Given the description of an element on the screen output the (x, y) to click on. 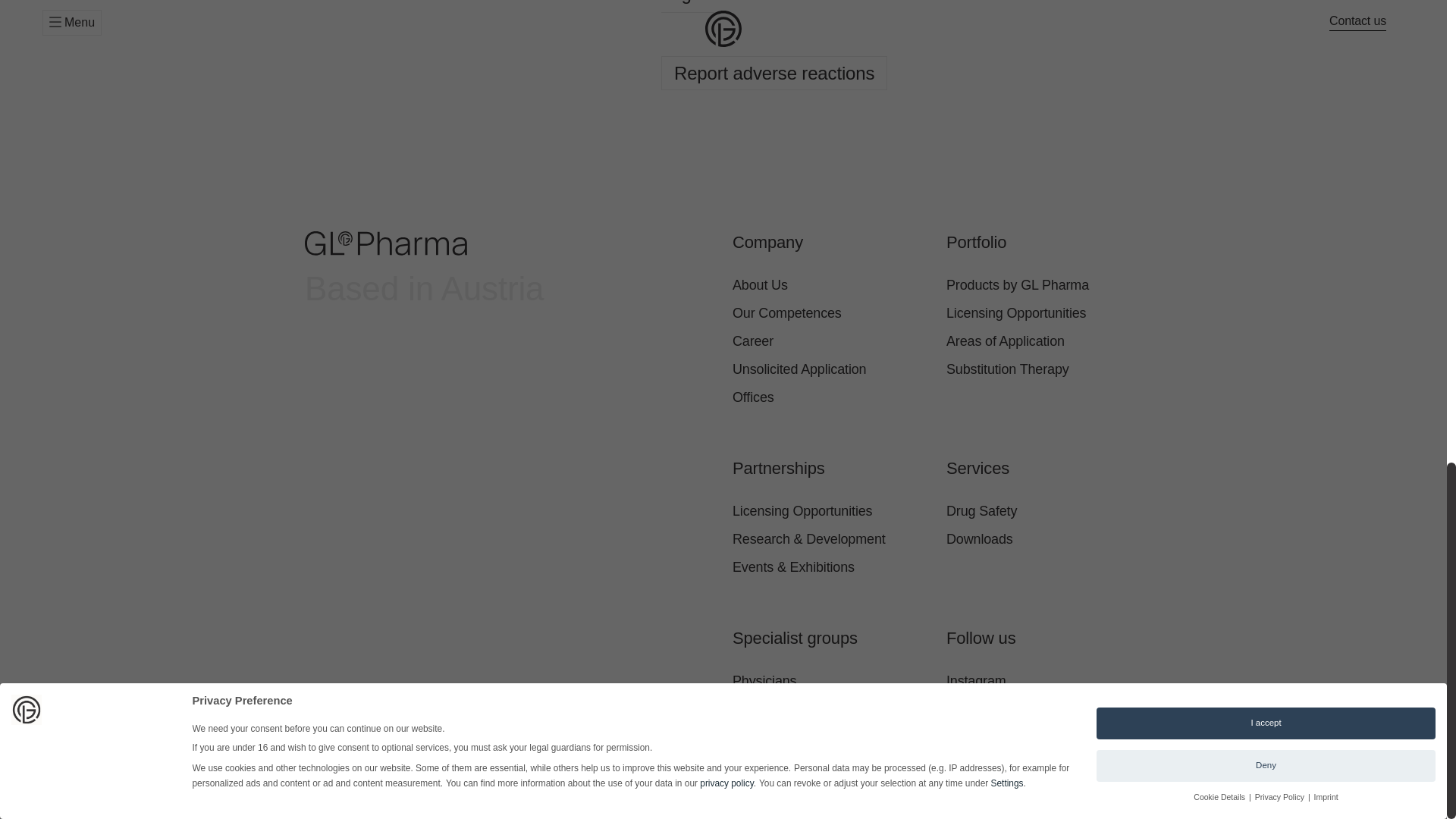
Unsolicited Application (830, 369)
Report adverse reactions (773, 73)
Based in Austria (509, 269)
About Us (830, 285)
Our Competences (830, 313)
Offices (830, 397)
Login (688, 6)
Products by GL Pharma (1043, 285)
Career (830, 341)
